Given the description of an element on the screen output the (x, y) to click on. 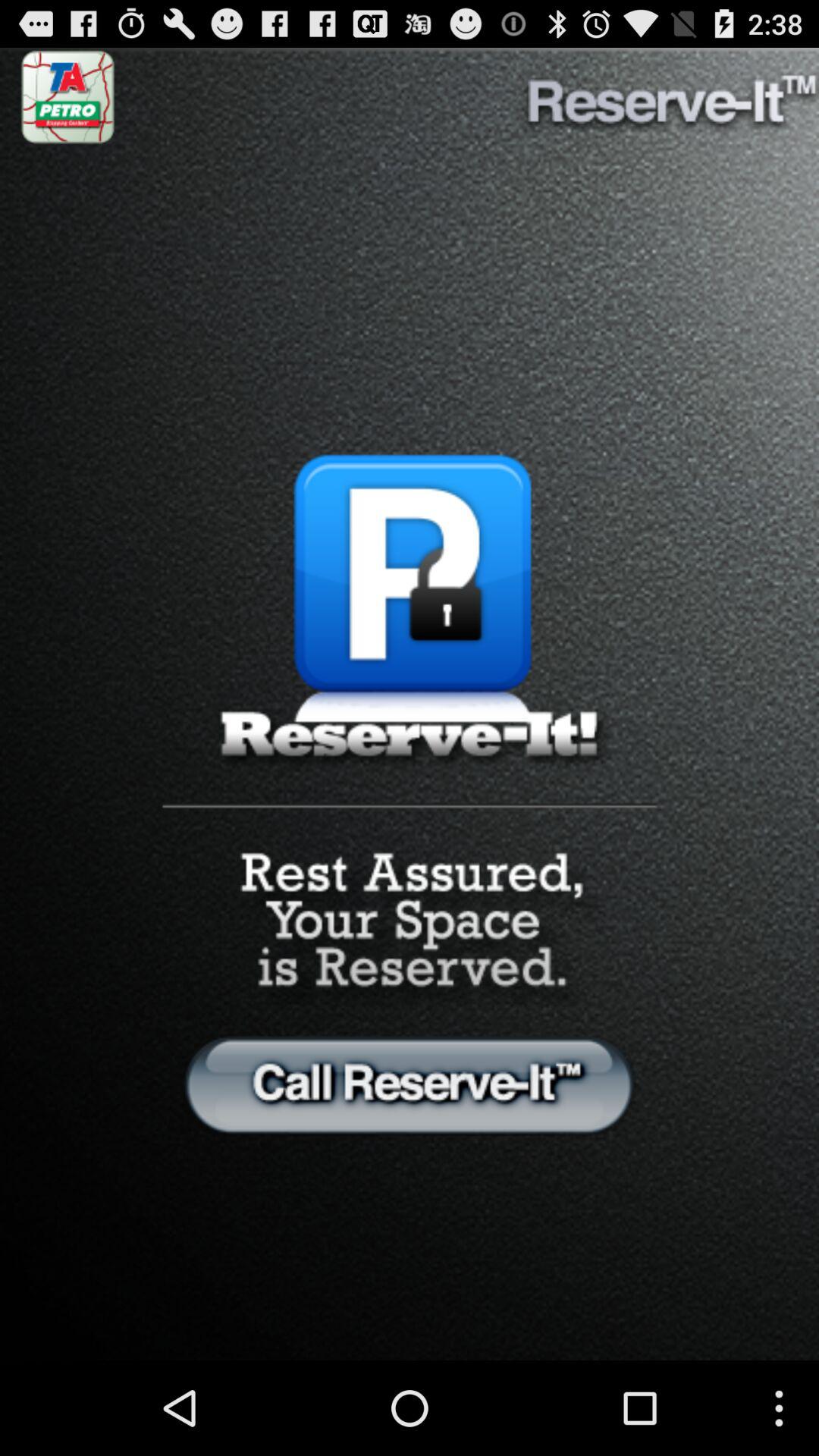
choose the icon at the bottom (409, 1084)
